Given the description of an element on the screen output the (x, y) to click on. 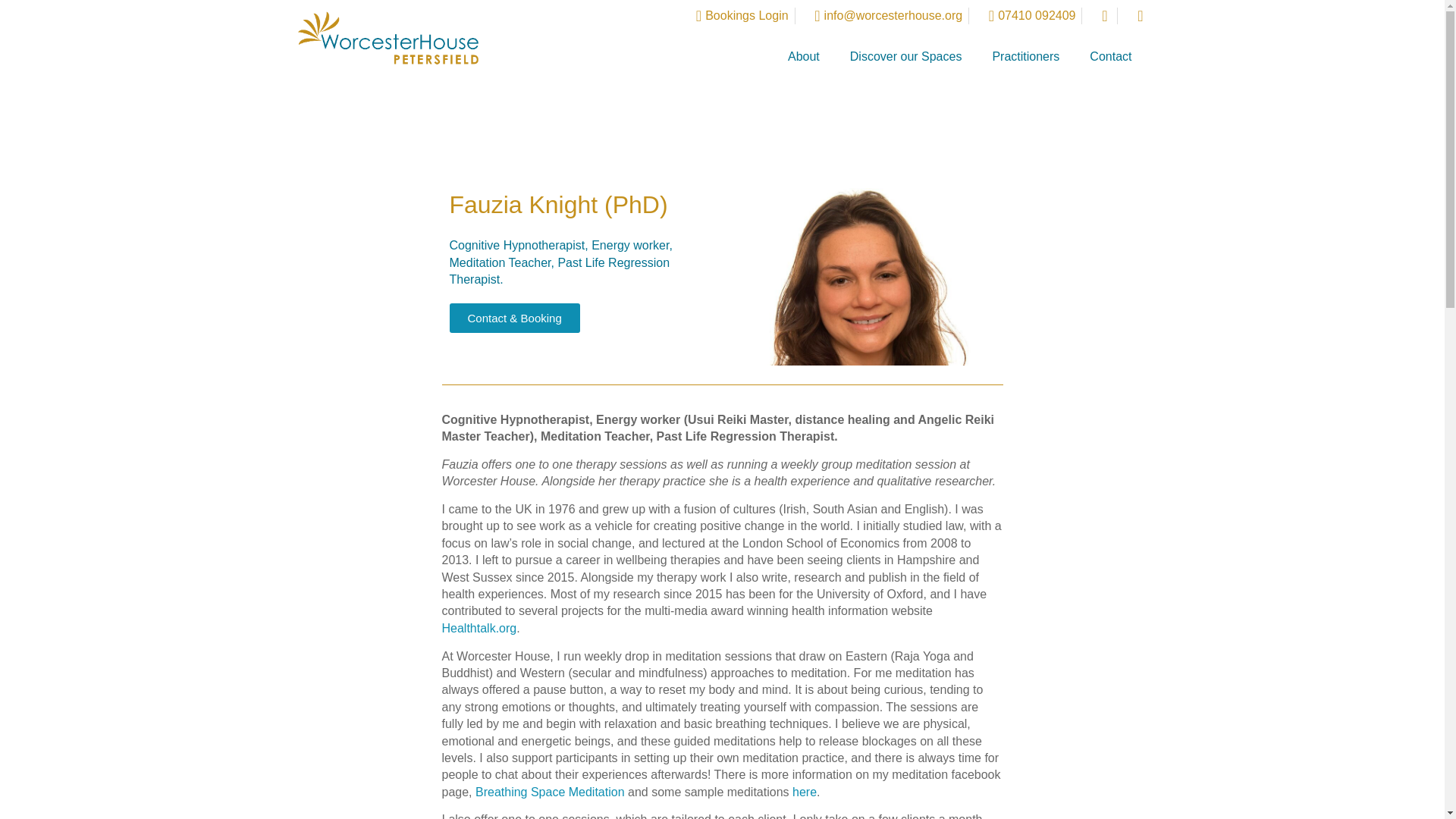
here (804, 791)
Discover our Spaces (905, 56)
About (803, 56)
Contact (1110, 56)
Breathing Space Meditation (550, 791)
Bookings Login (734, 15)
Healthtalk.org (478, 627)
Practitioners (1025, 56)
